Given the description of an element on the screen output the (x, y) to click on. 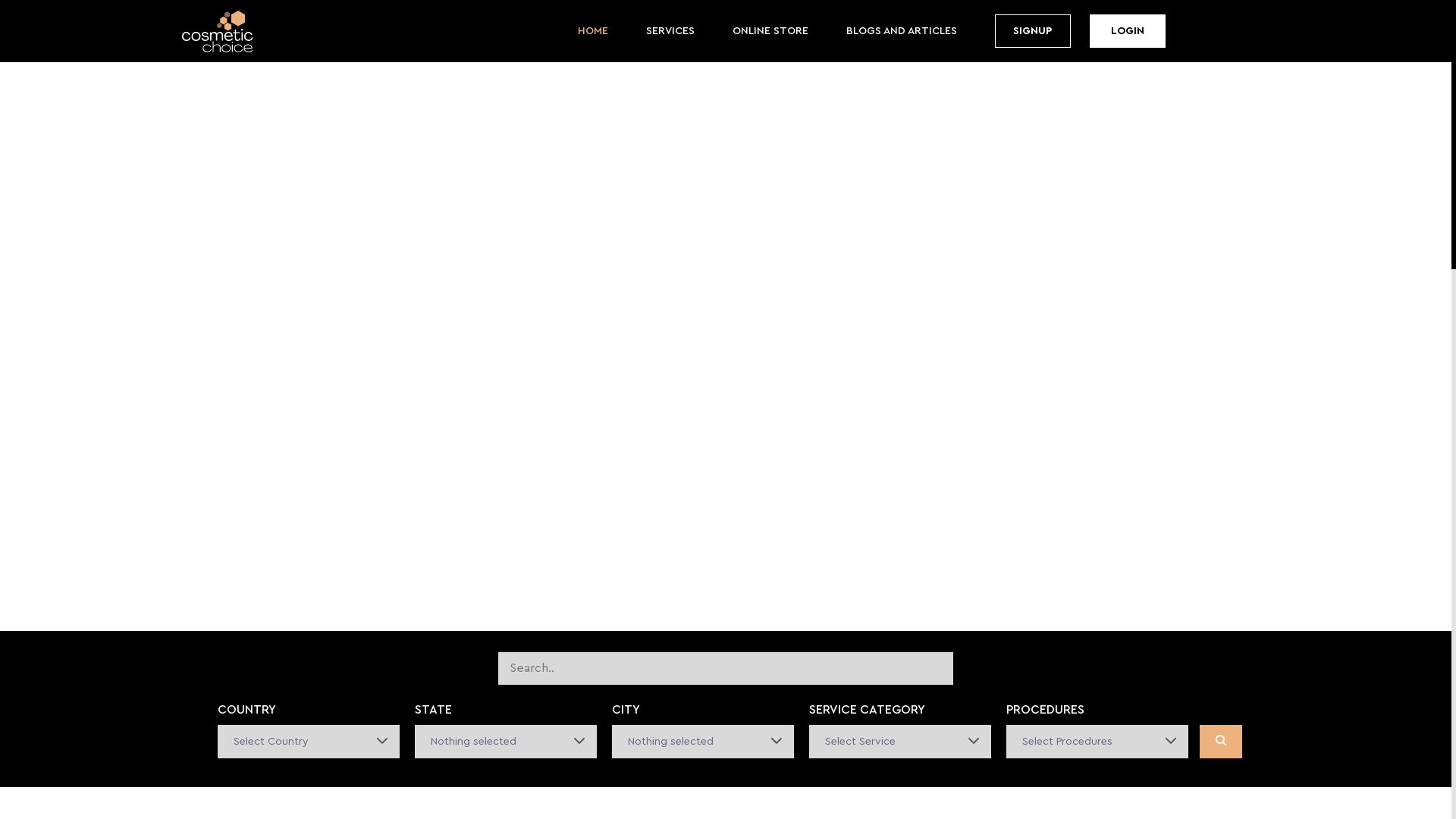
SIGNUP Element type: text (1032, 30)
HOME Element type: text (592, 31)
Select Procedures Element type: text (1096, 741)
Nothing selected Element type: text (702, 741)
SERVICES Element type: text (670, 31)
Select Country Element type: text (307, 741)
Select Service Element type: text (899, 741)
BLOGS AND ARTICLES Element type: text (901, 31)
ONLINE STORE Element type: text (770, 31)
LOGIN Element type: text (1126, 30)
Nothing selected Element type: text (505, 741)
